Given the description of an element on the screen output the (x, y) to click on. 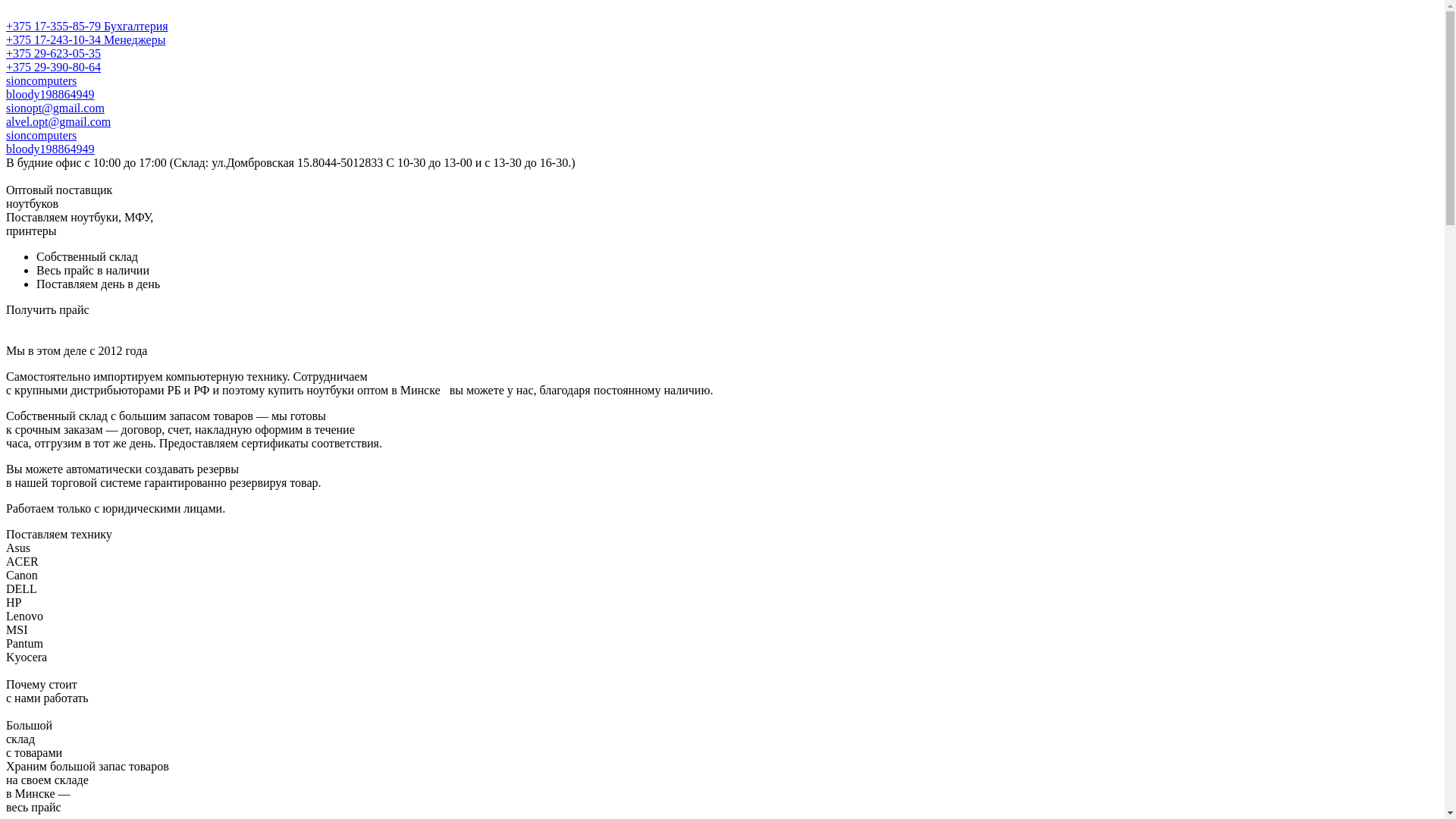
sioncomputers Element type: text (41, 80)
sionopt@gmail.com Element type: text (55, 107)
+375 29-623-05-35 Element type: text (53, 53)
+375 29-390-80-64 Element type: text (53, 66)
sioncomputers Element type: text (41, 134)
bloody198864949 Element type: text (50, 148)
bloody198864949 Element type: text (50, 93)
alvel.opt@gmail.com Element type: text (58, 121)
